Given the description of an element on the screen output the (x, y) to click on. 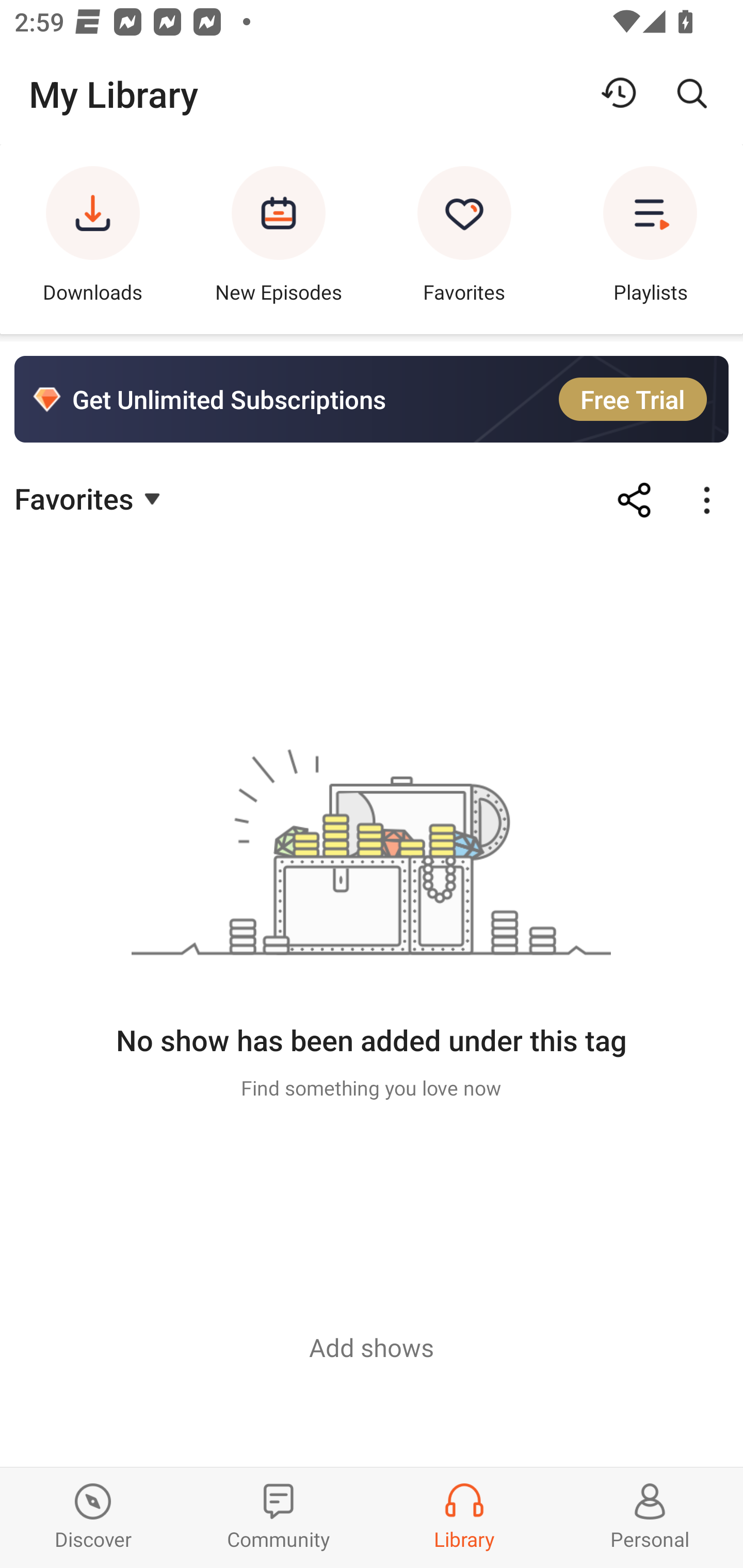
Downloads (92, 238)
New Episodes (278, 238)
Favorites (464, 238)
Playlists (650, 238)
Get Unlimited Subscriptions Free Trial (371, 398)
Free Trial (632, 398)
Favorites (90, 497)
Add shows (371, 1346)
Discover (92, 1517)
Community (278, 1517)
Library (464, 1517)
Profiles and Settings Personal (650, 1517)
